Given the description of an element on the screen output the (x, y) to click on. 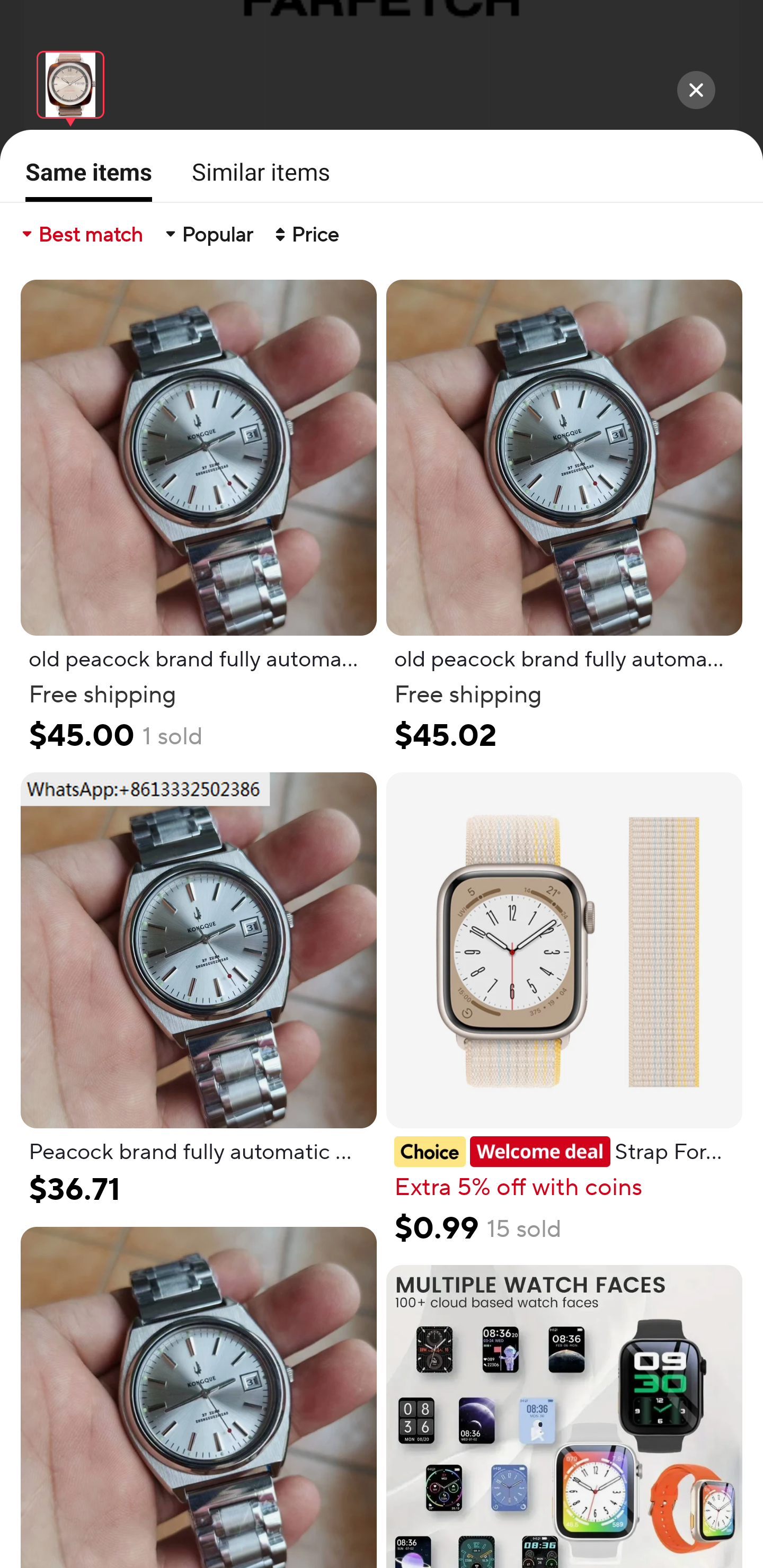
Same items (83, 178)
Similar items (255, 171)
Best match (81, 234)
Popular (207, 234)
Price (305, 234)
